Given the description of an element on the screen output the (x, y) to click on. 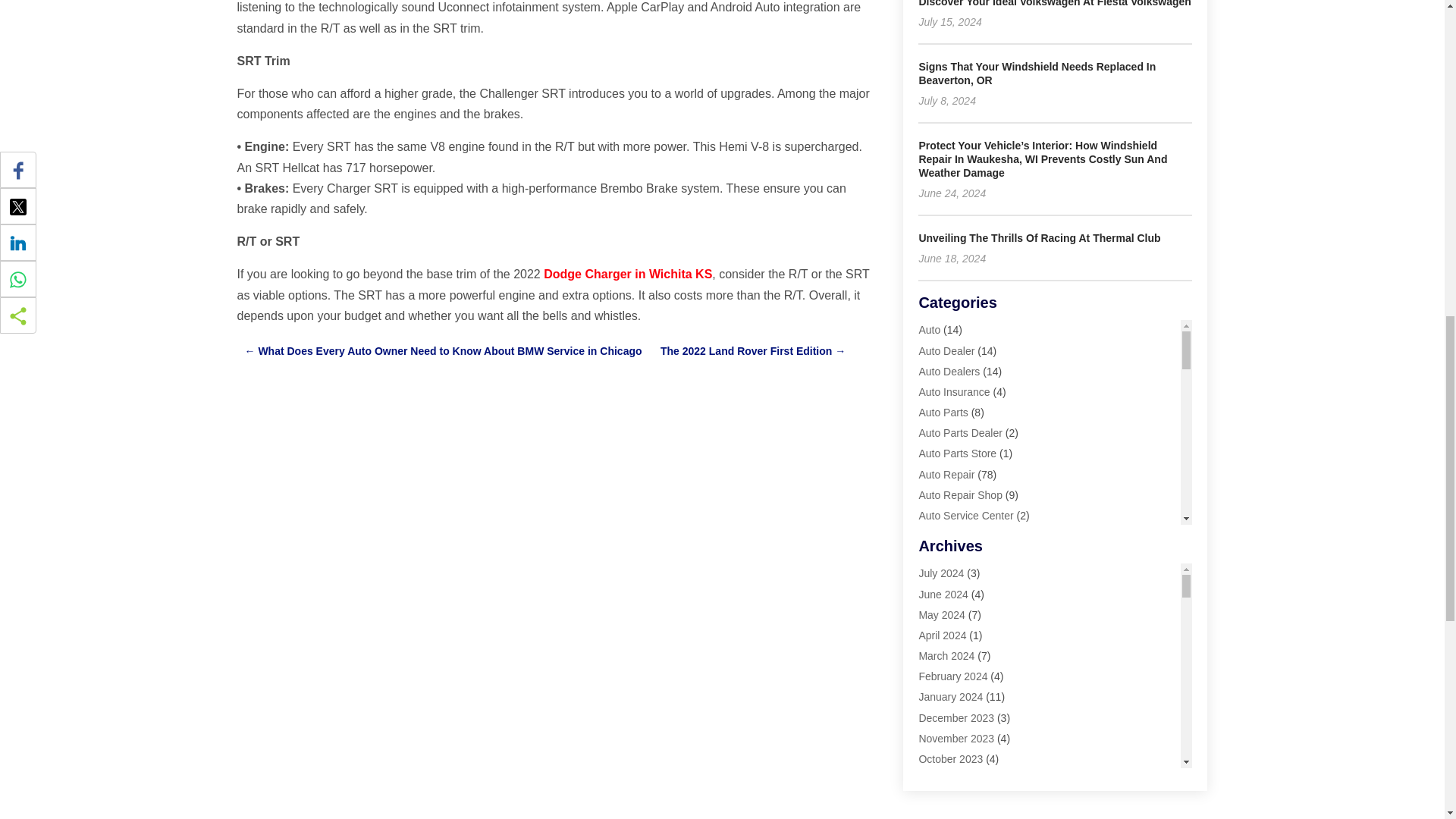
Auto Insurance (954, 391)
Auto Repair Shop (960, 494)
Signs That Your Windshield Needs Replaced In Beaverton, OR (1037, 73)
Auto-Products (951, 535)
Dodge Charger in Wichita KS (627, 273)
Auto Repair (946, 474)
Auto Parts Dealer (960, 432)
Auto (929, 329)
Auto Parts (943, 412)
Auto Dealer (946, 350)
Unveiling The Thrills Of Racing At Thermal Club (1039, 237)
Automobile (944, 556)
Auto Service Center (965, 515)
Discover Your Ideal Volkswagen At Fiesta Volkswagen (1054, 3)
Auto Parts Store (956, 453)
